Given the description of an element on the screen output the (x, y) to click on. 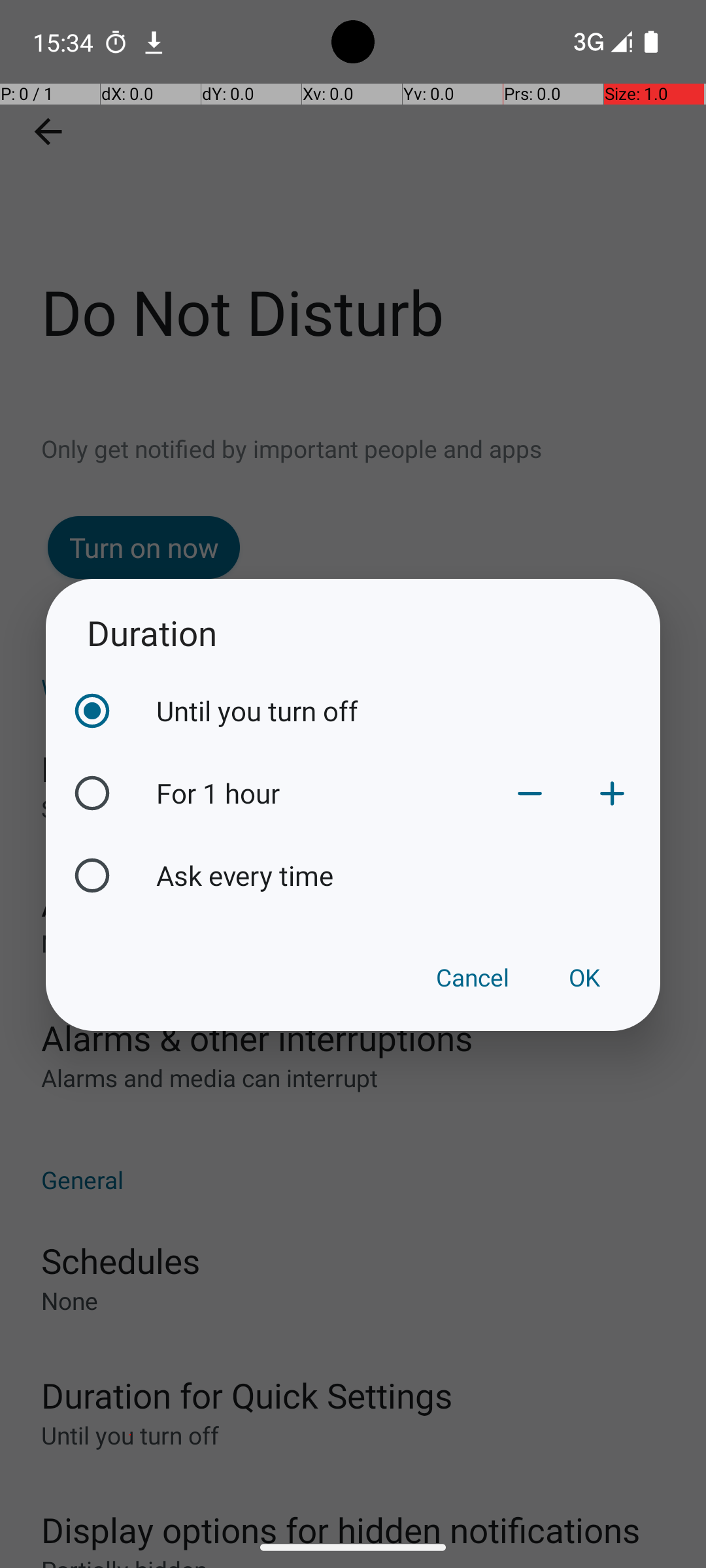
Duration Element type: android.widget.TextView (352, 632)
Less time. Element type: android.widget.ImageView (529, 792)
More time. Element type: android.widget.ImageView (611, 792)
For 1 hour Element type: android.widget.TextView (322, 792)
Ask every time Element type: android.widget.TextView (404, 874)
